Given the description of an element on the screen output the (x, y) to click on. 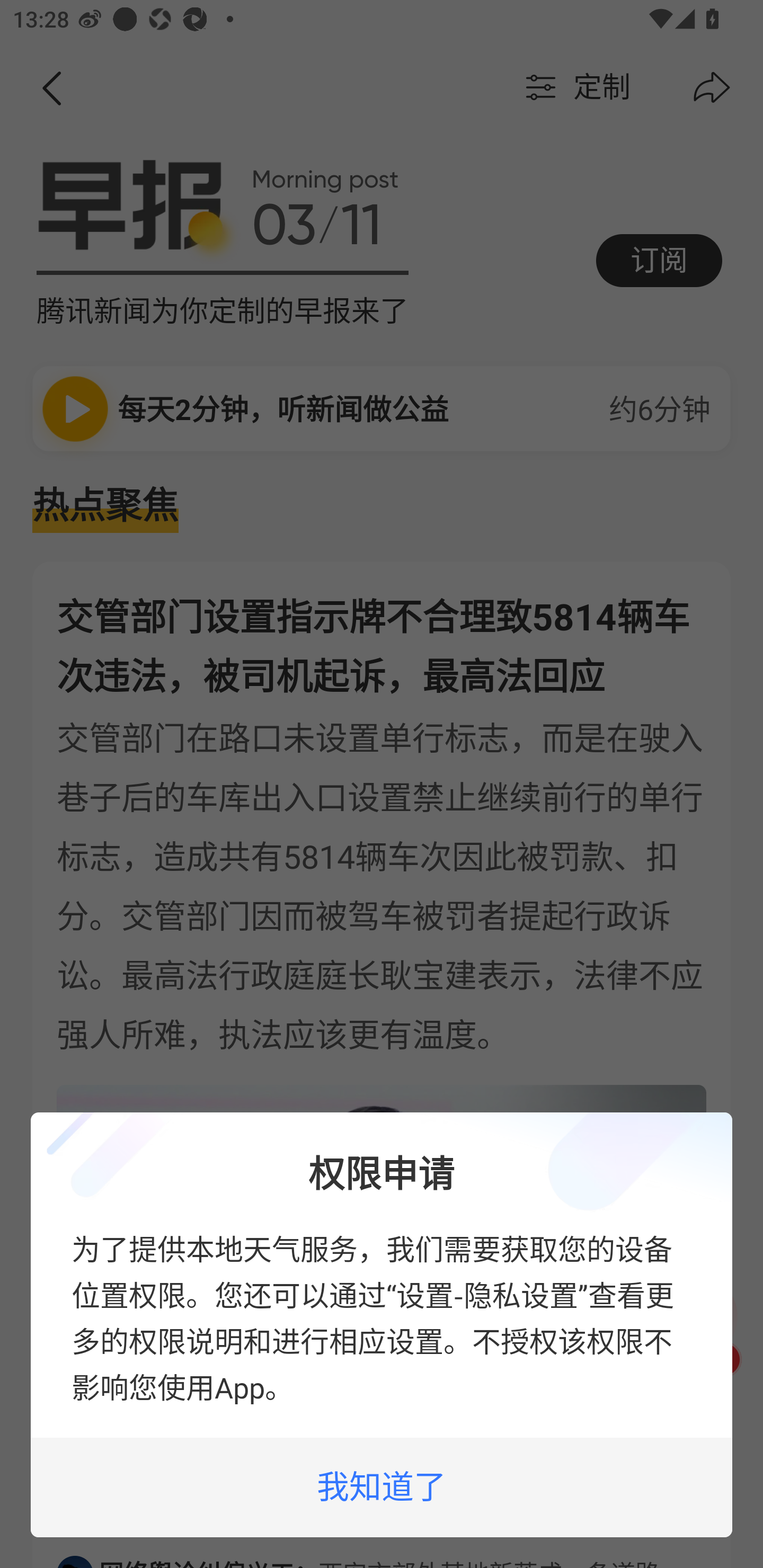
我知道了 (381, 1486)
